Given the description of an element on the screen output the (x, y) to click on. 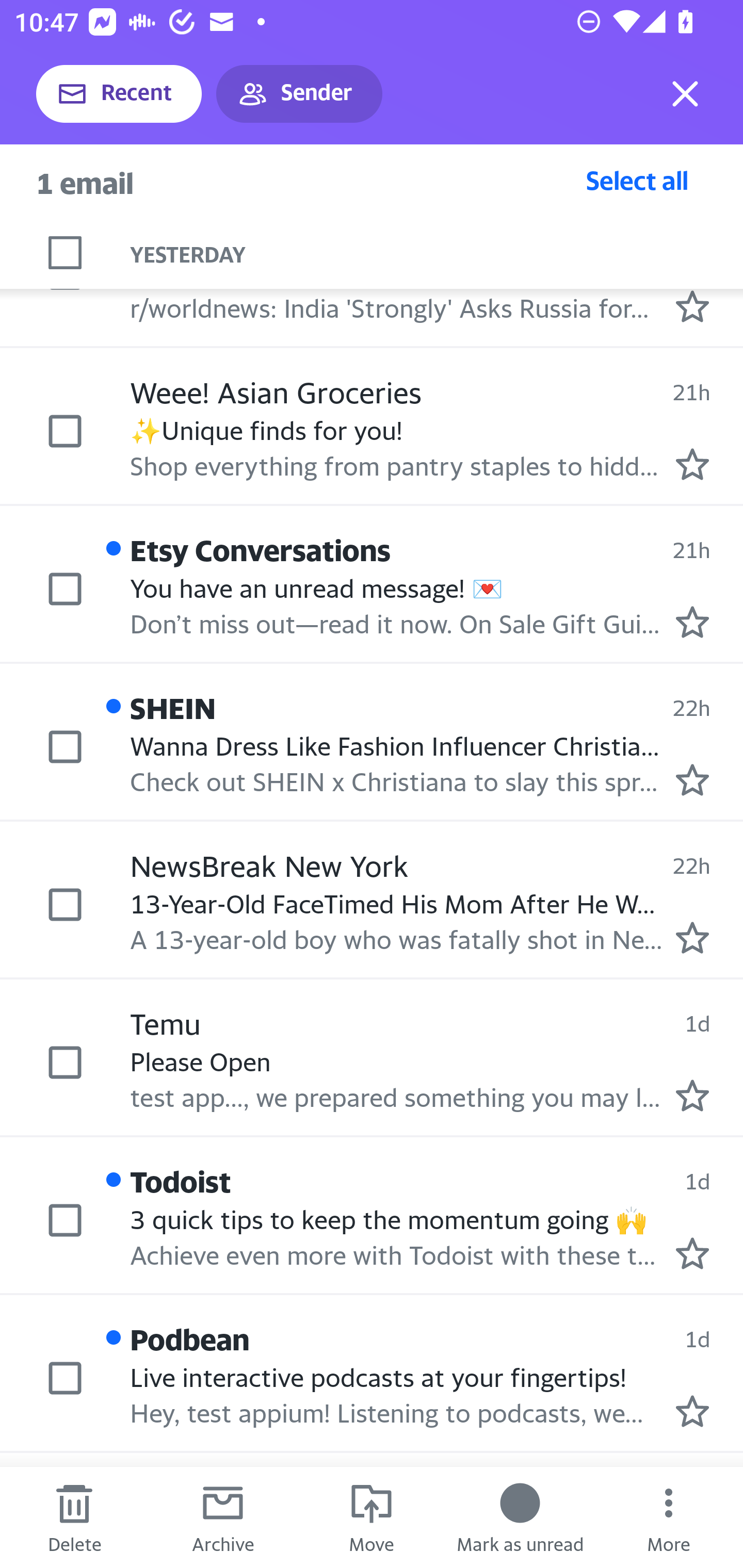
Sender (299, 93)
Exit selection mode (684, 93)
Select all (637, 180)
Mark as starred. (692, 306)
Mark as starred. (692, 464)
Mark as starred. (692, 621)
Mark as starred. (692, 780)
Mark as starred. (692, 938)
Mark as starred. (692, 1095)
Mark as starred. (692, 1253)
Mark as starred. (692, 1411)
Delete (74, 1517)
Archive (222, 1517)
Move (371, 1517)
Mark as unread (519, 1517)
More (668, 1517)
